Given the description of an element on the screen output the (x, y) to click on. 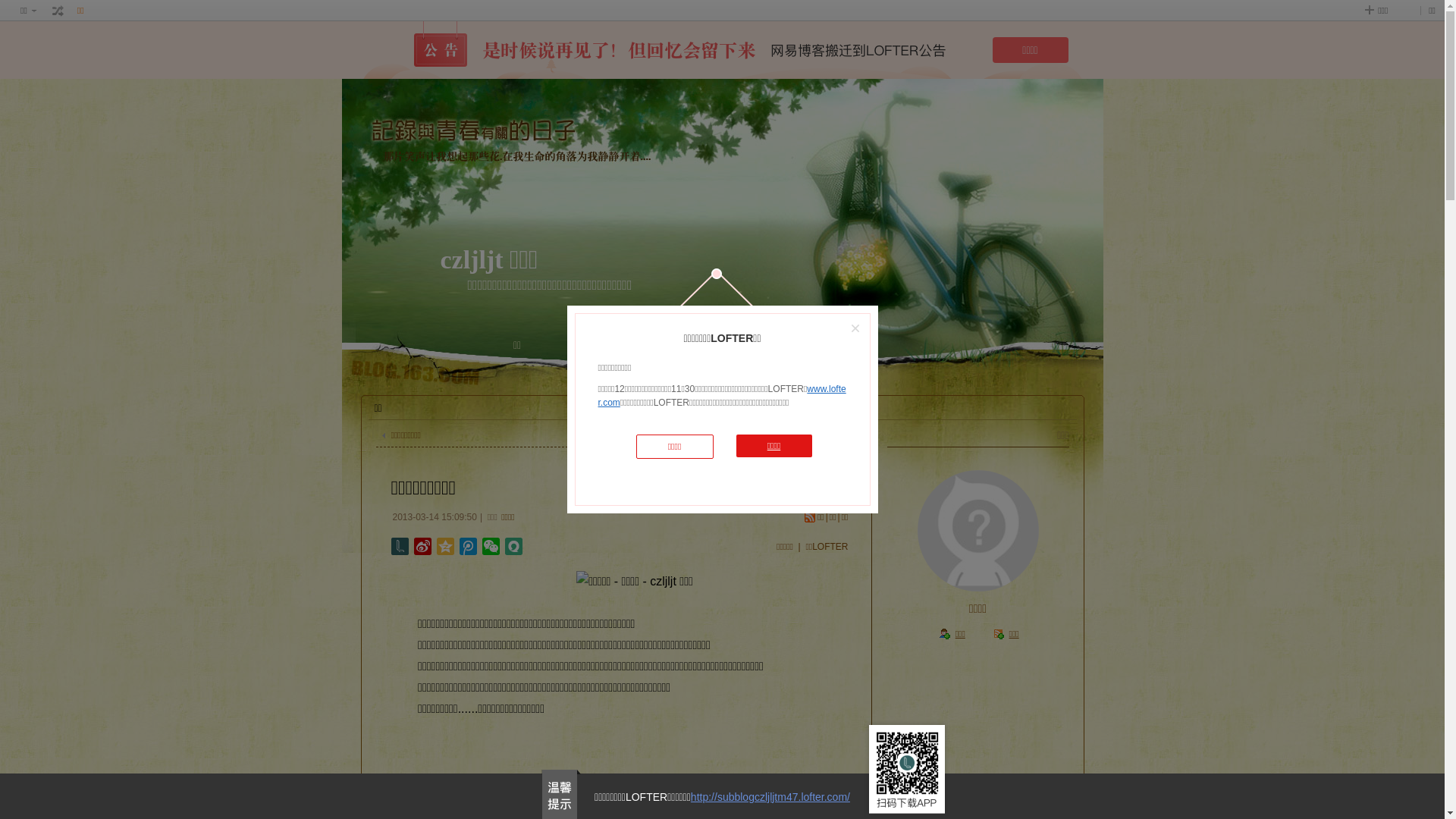
  Element type: text (58, 10)
http://subblogczljljtm47.lofter.com/ Element type: text (770, 796)
LOFTER Element type: text (642, 346)
www.lofter.com Element type: text (721, 395)
